Given the description of an element on the screen output the (x, y) to click on. 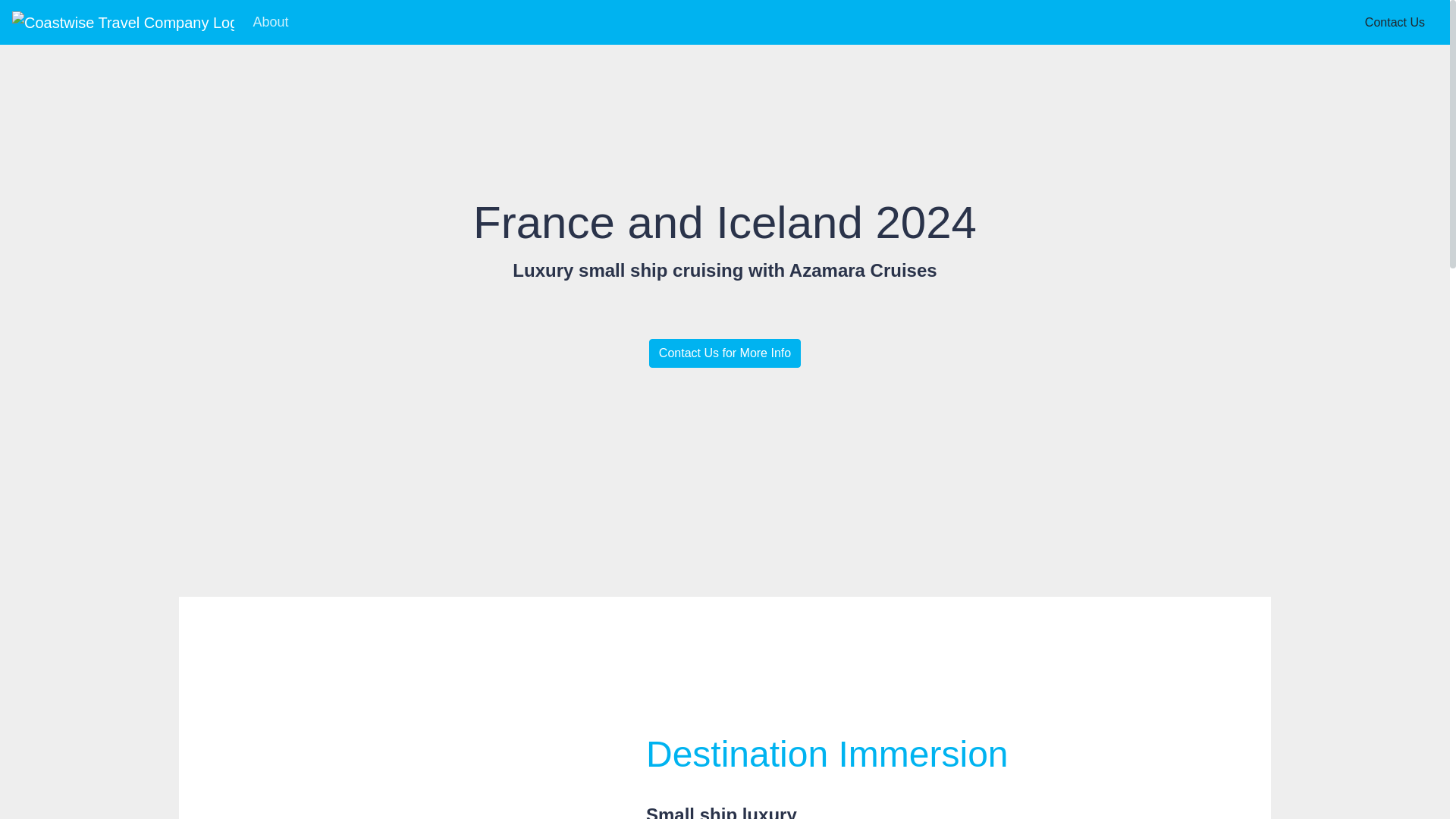
Contact Us (1394, 21)
About (270, 21)
Contact Us for More Info (724, 353)
